Given the description of an element on the screen output the (x, y) to click on. 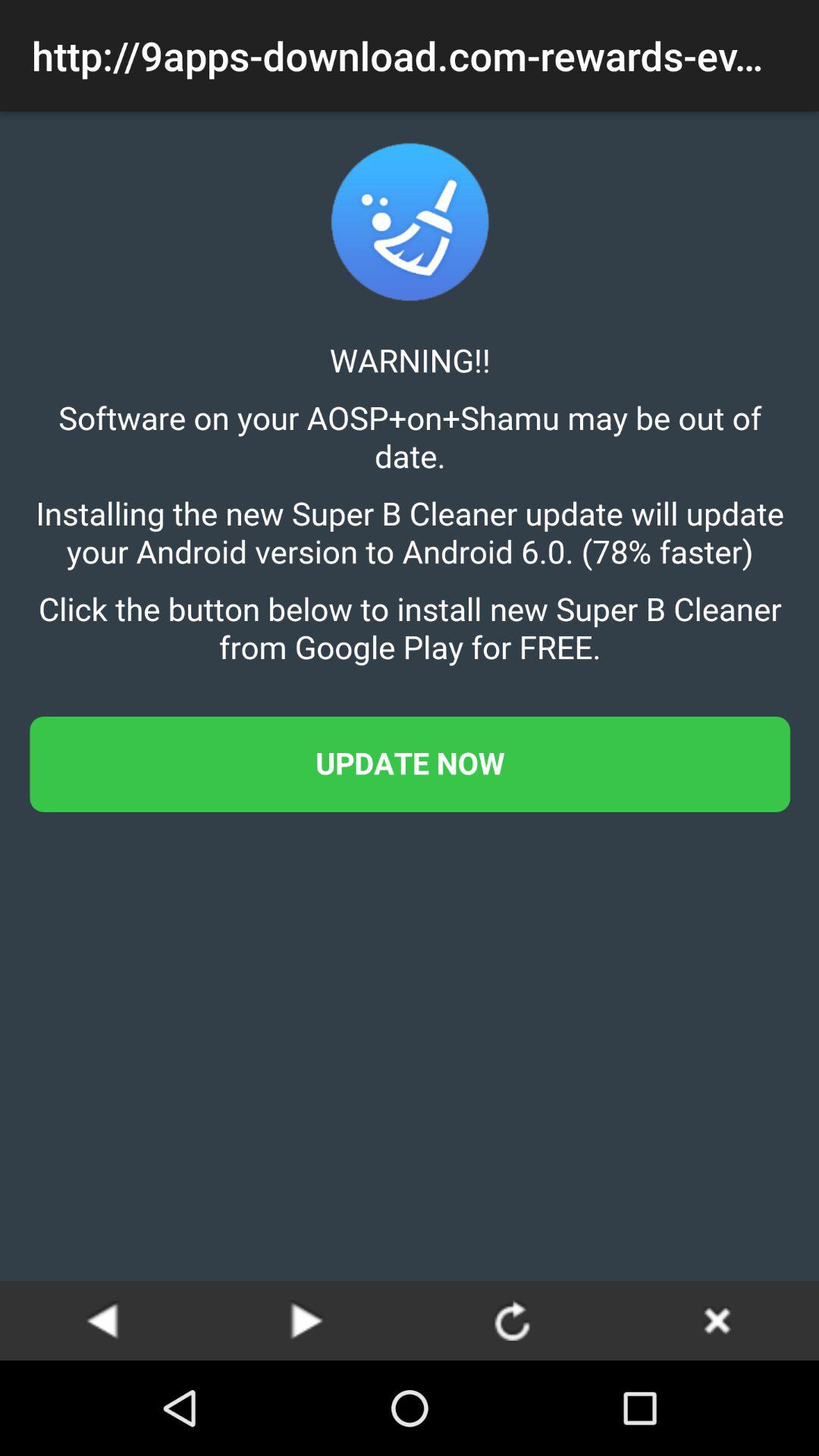
close the app (716, 1320)
